Given the description of an element on the screen output the (x, y) to click on. 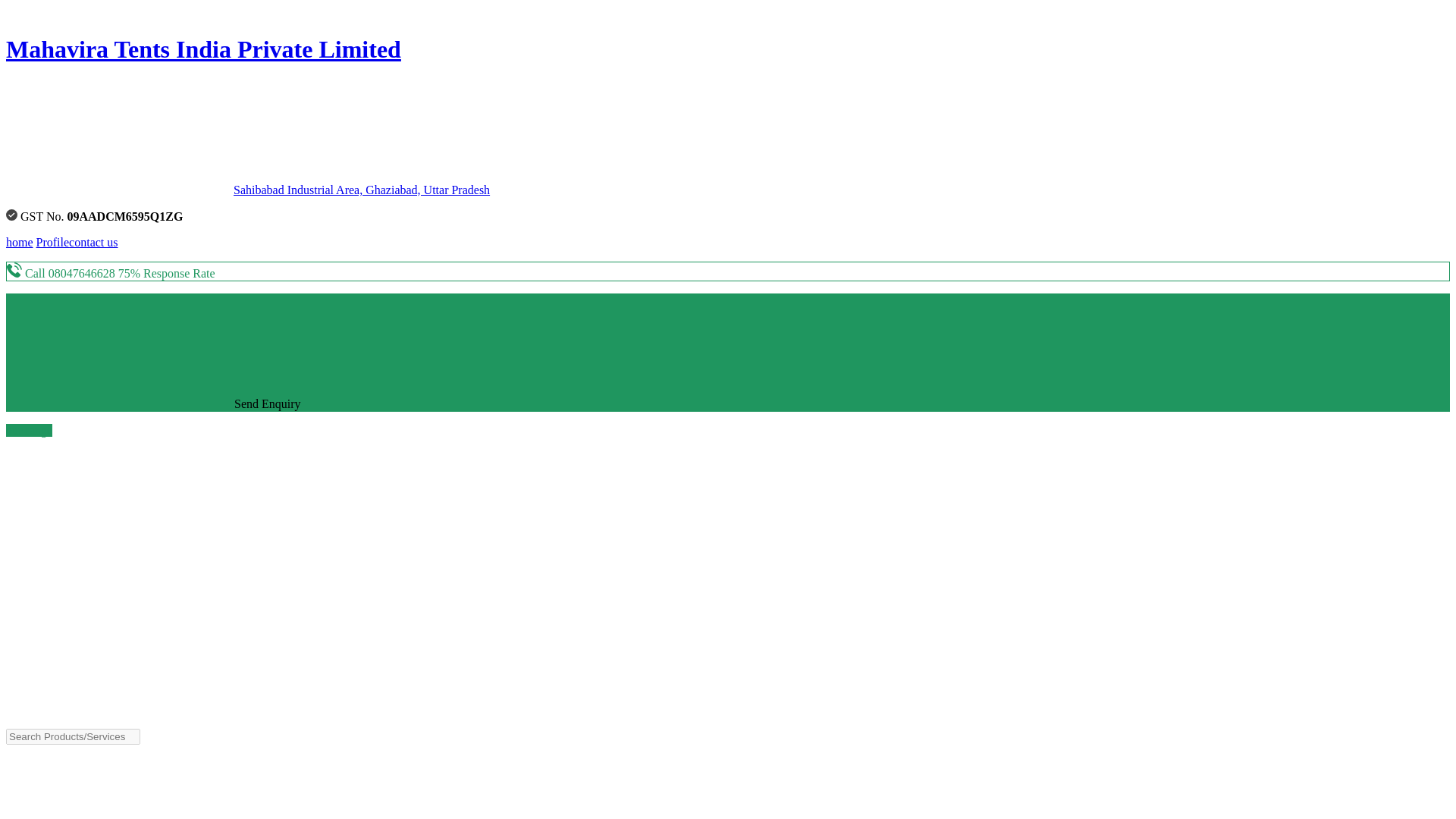
home (19, 241)
our range (28, 430)
contact us (92, 241)
Profile (52, 241)
